Given the description of an element on the screen output the (x, y) to click on. 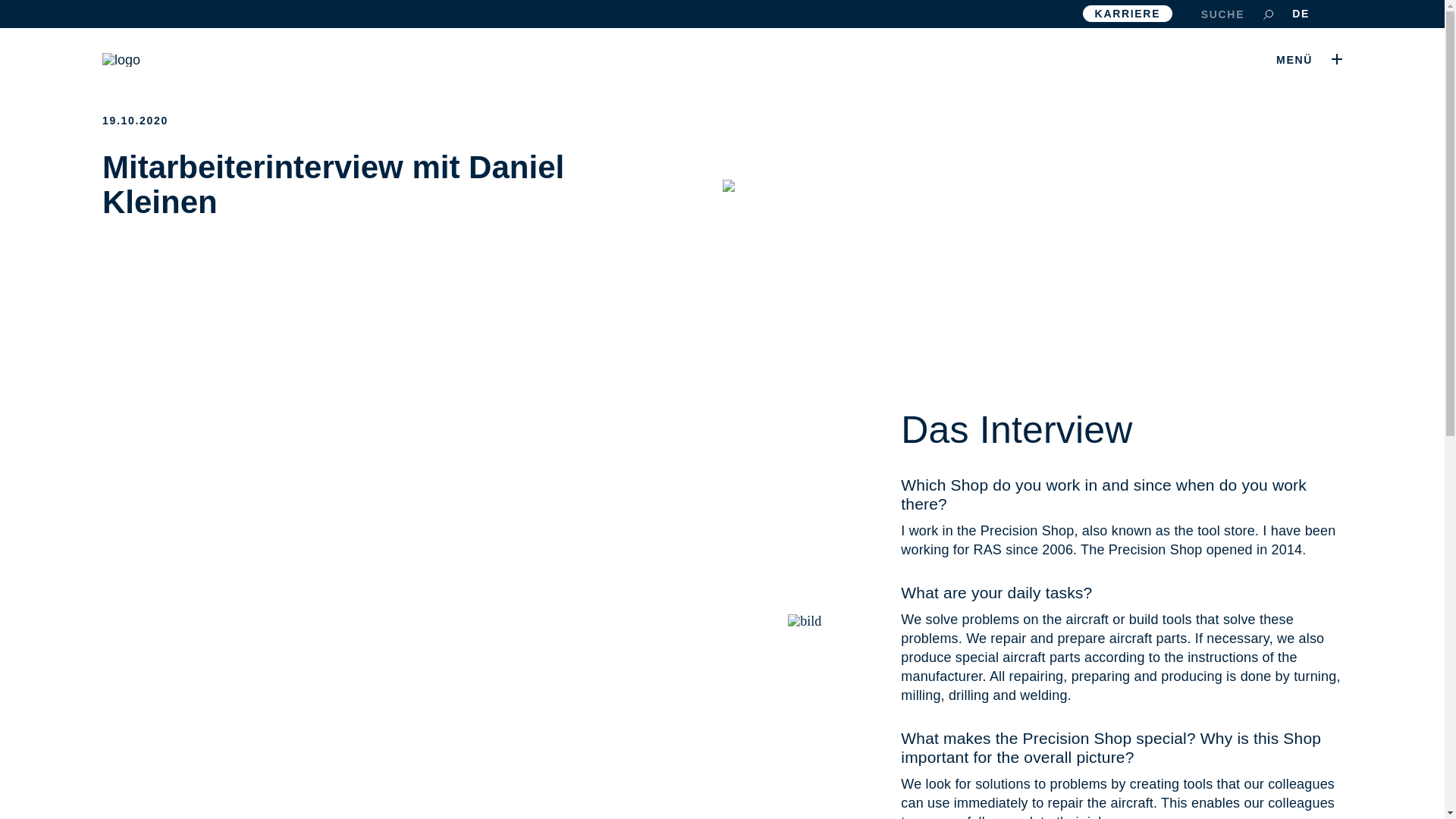
KARRIERE (1128, 13)
DE (1300, 13)
De (1300, 13)
